Given the description of an element on the screen output the (x, y) to click on. 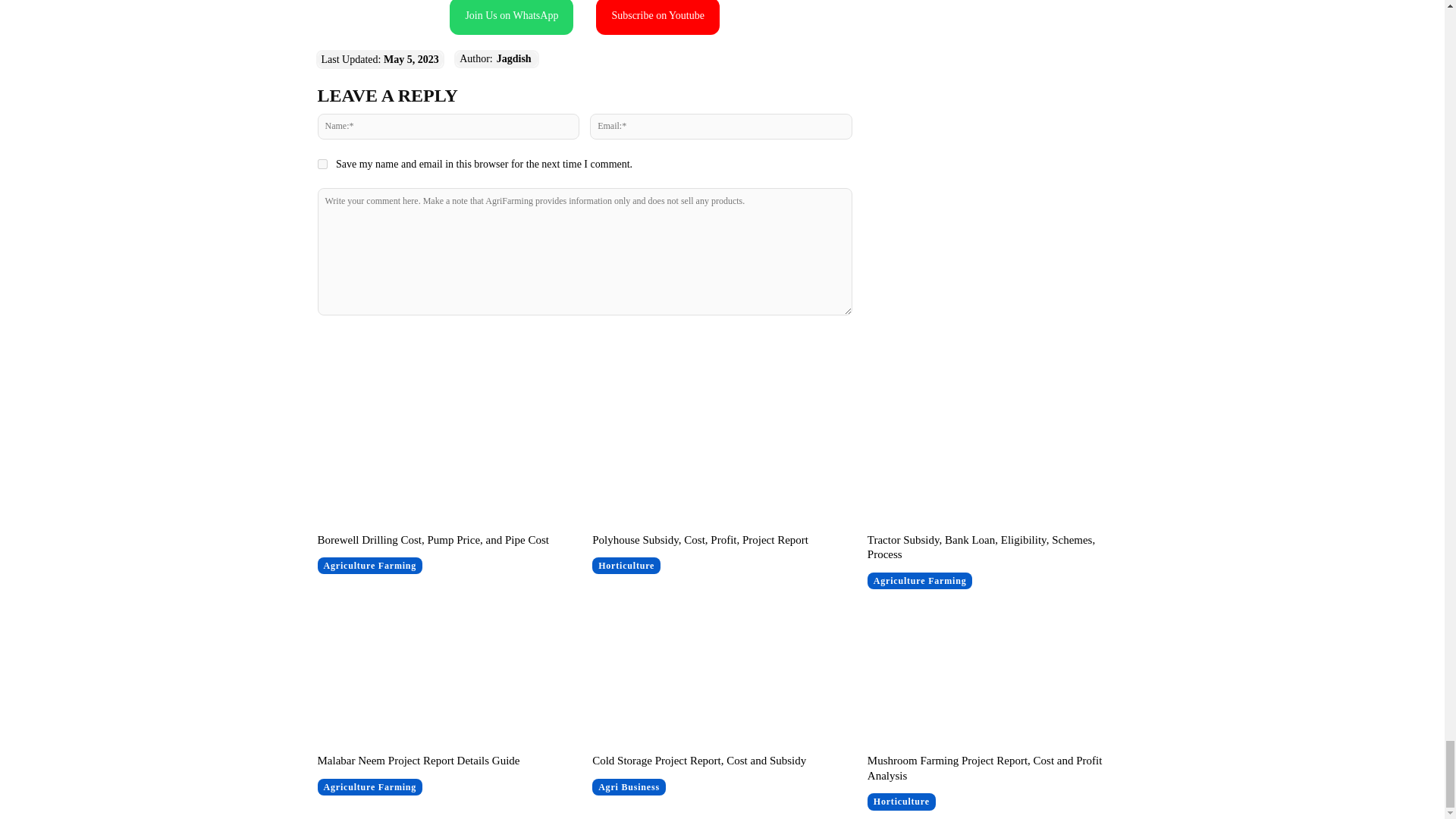
yes (321, 163)
Subscribe on Youtube (657, 17)
Join Us on WhatsApp (511, 17)
Post Comment (584, 345)
